Given the description of an element on the screen output the (x, y) to click on. 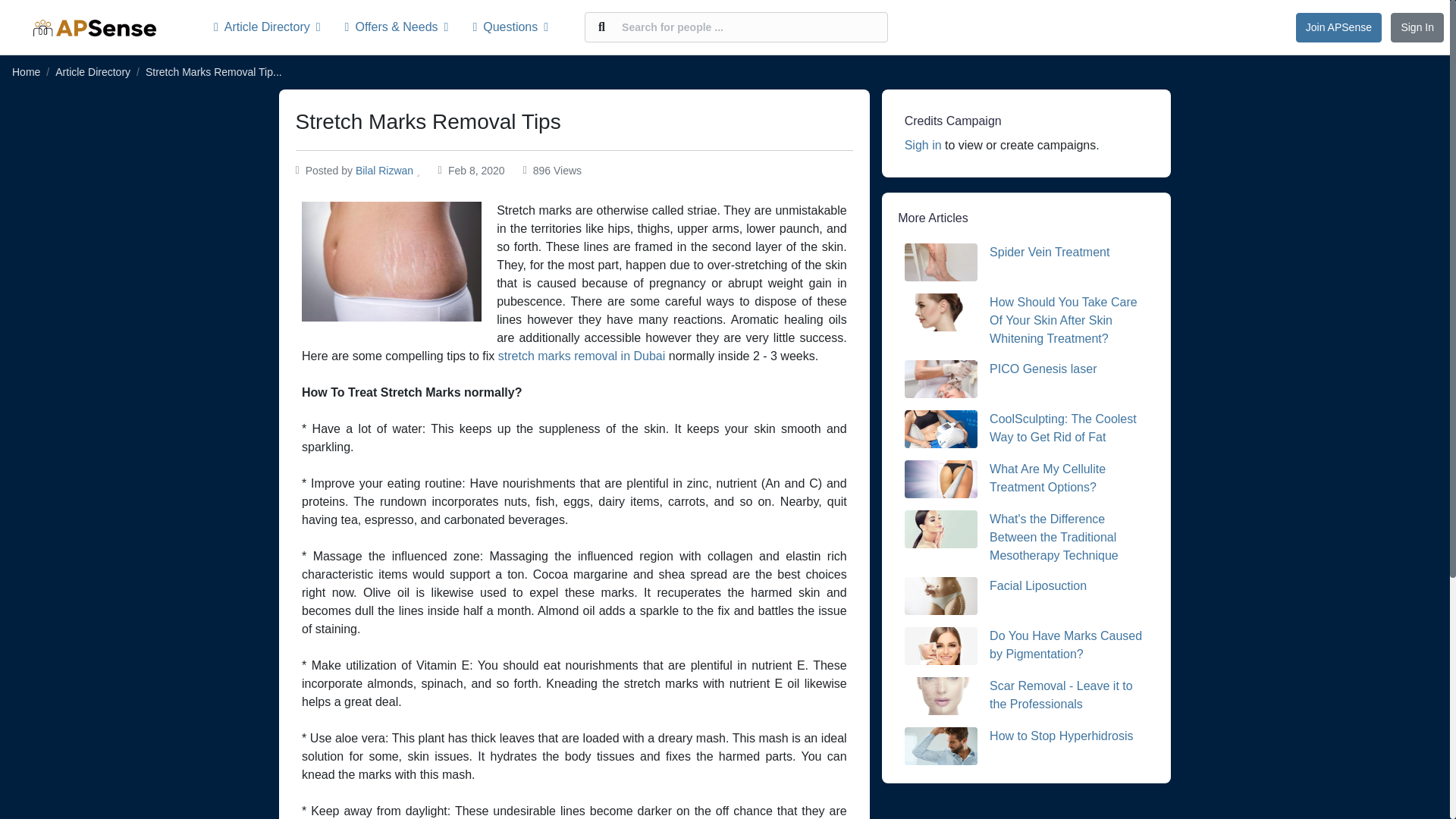
Questions (510, 27)
Article Directory (273, 27)
Do You Have Marks Caused by Pigmentation? (1065, 644)
Sign In (1417, 27)
Facial Liposuction (1038, 585)
PICO Genesis laser (1043, 368)
Spider Vein Treatment (1049, 251)
Scar Removal - Leave it to the Professionals (1061, 694)
Bilal Rizwan (384, 170)
